Given the description of an element on the screen output the (x, y) to click on. 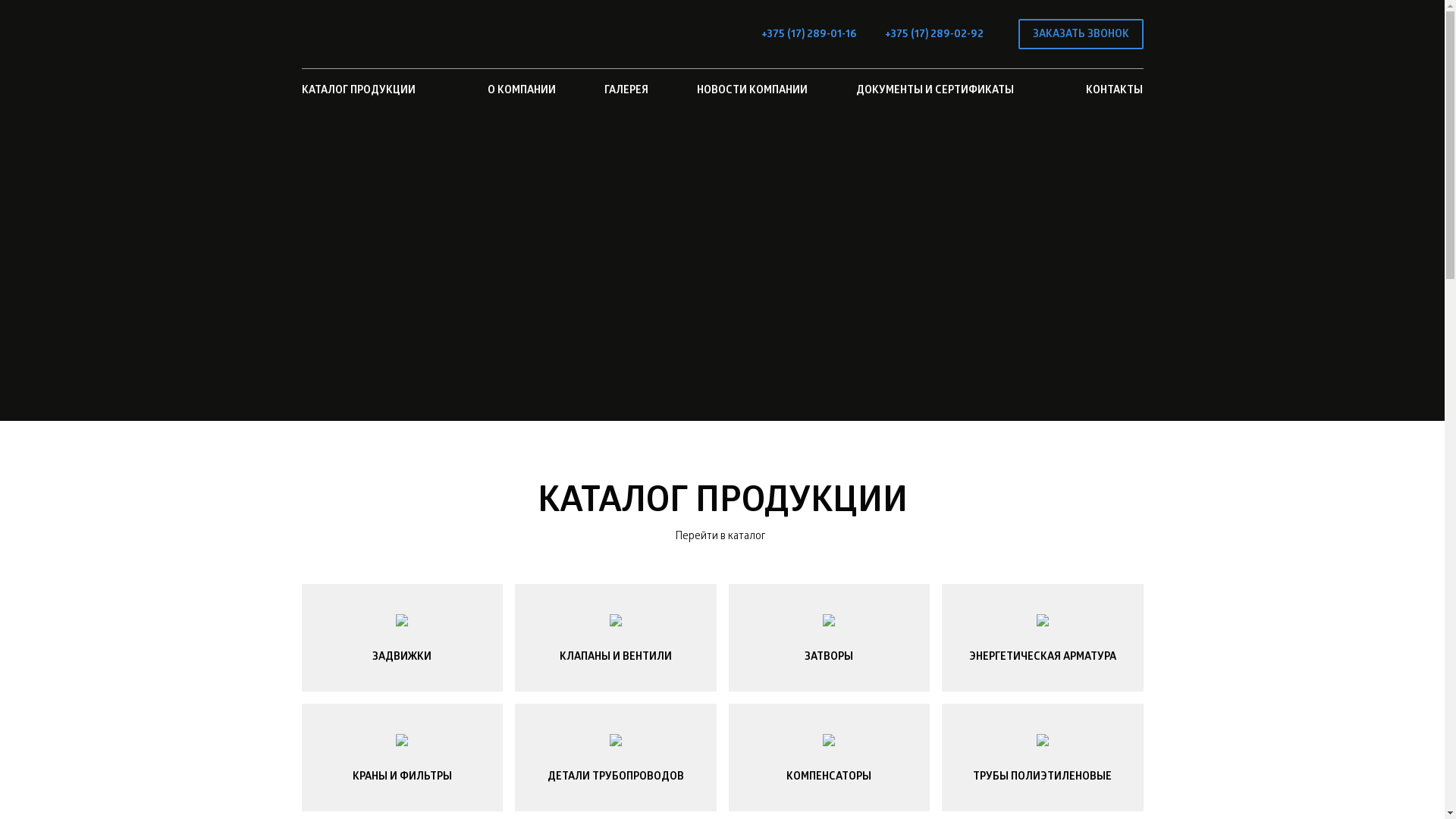
+375 (17) 289-02-92 Element type: text (933, 33)
+375 (17) 289-01-16 Element type: text (808, 33)
